Given the description of an element on the screen output the (x, y) to click on. 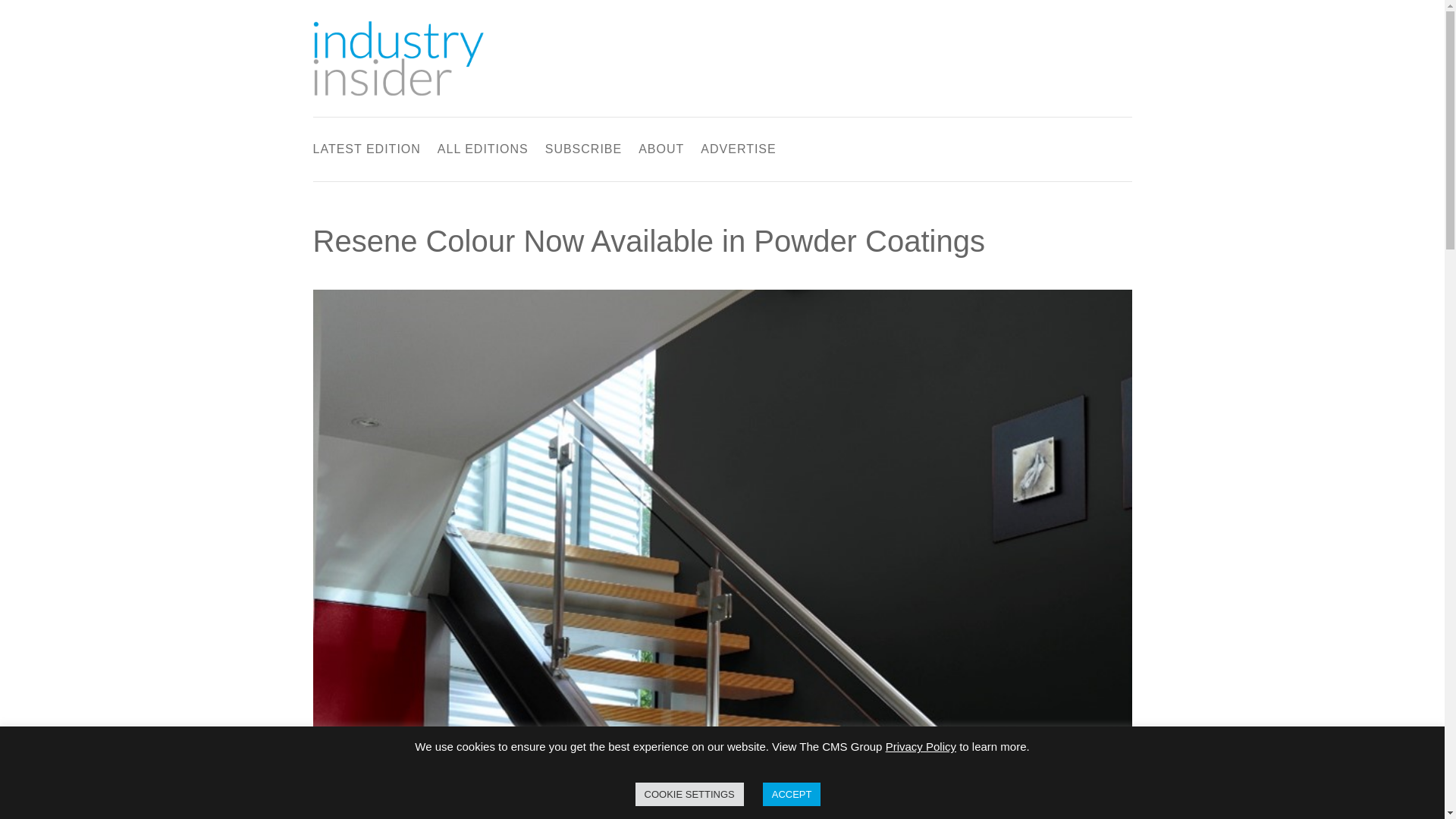
ABOUT (661, 152)
Privacy Policy (920, 746)
LATEST EDITION (366, 152)
COOKIE SETTINGS (689, 793)
ACCEPT (791, 793)
ADVERTISE (738, 152)
SUBSCRIBE (582, 152)
ALL EDITIONS (483, 152)
